Given the description of an element on the screen output the (x, y) to click on. 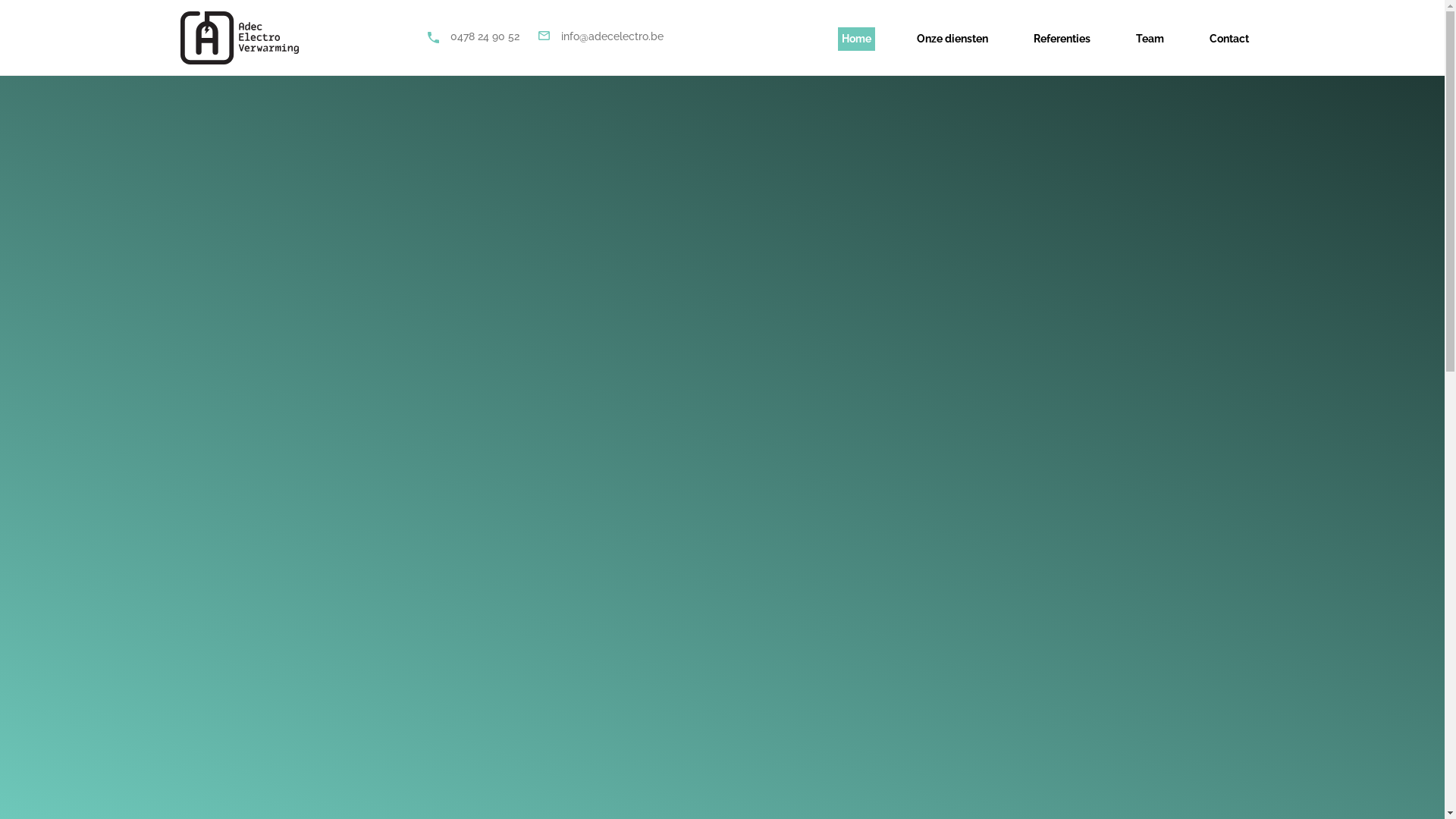
0478 24 90 52 Element type: text (484, 37)
Onze diensten Element type: text (952, 37)
Home Element type: text (856, 37)
info@adecelectro.be Element type: text (612, 37)
Team Element type: text (1149, 37)
Referenties Element type: text (1061, 37)
Contact Element type: text (1228, 37)
ADEC Electro Element type: hover (239, 36)
